Given the description of an element on the screen output the (x, y) to click on. 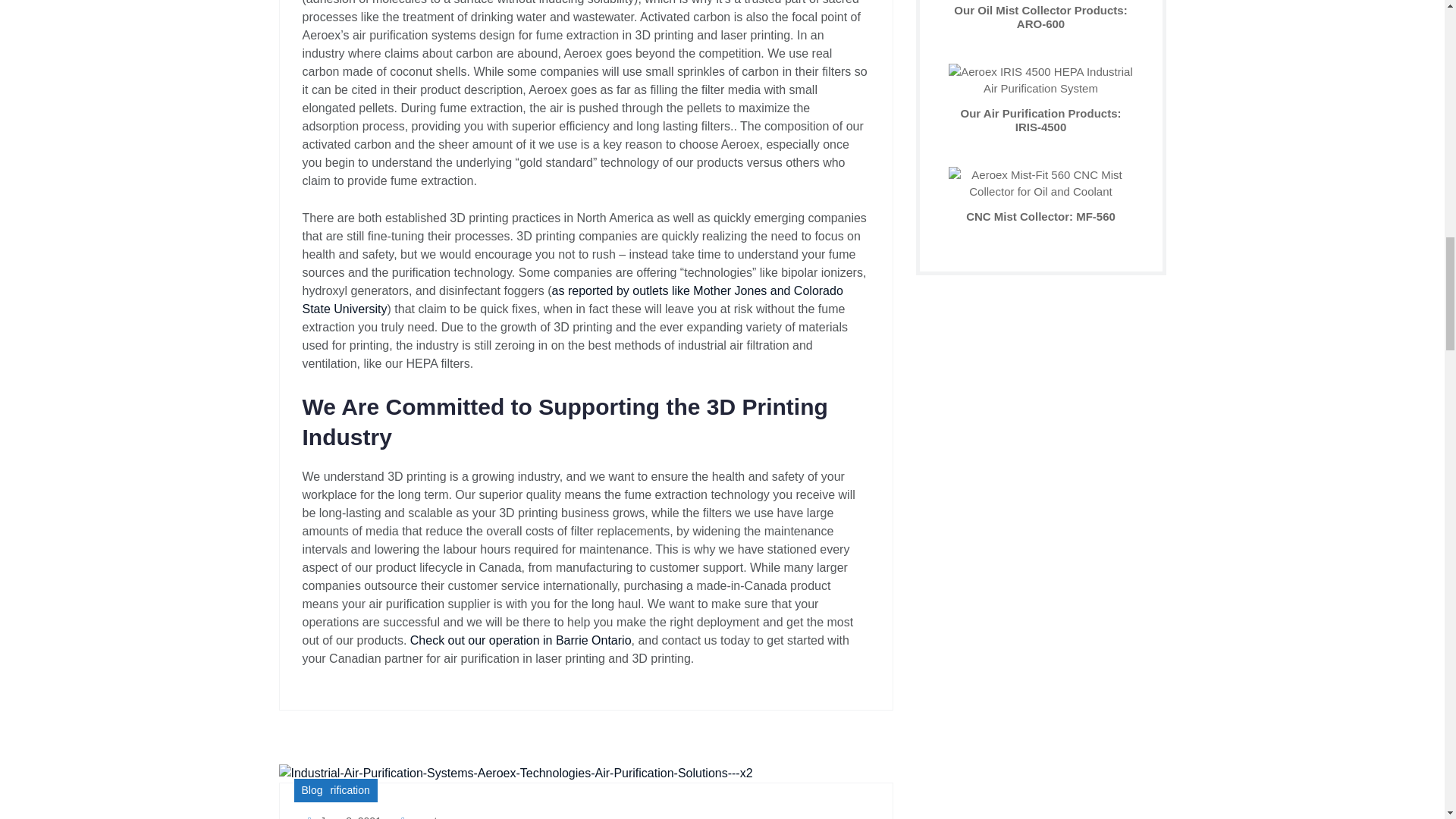
Posted by creator (421, 816)
Air Purification (335, 790)
creator (421, 816)
June 8, 2021 (340, 816)
Check out our operation in Barrie Ontario (520, 640)
Blog (312, 790)
